Given the description of an element on the screen output the (x, y) to click on. 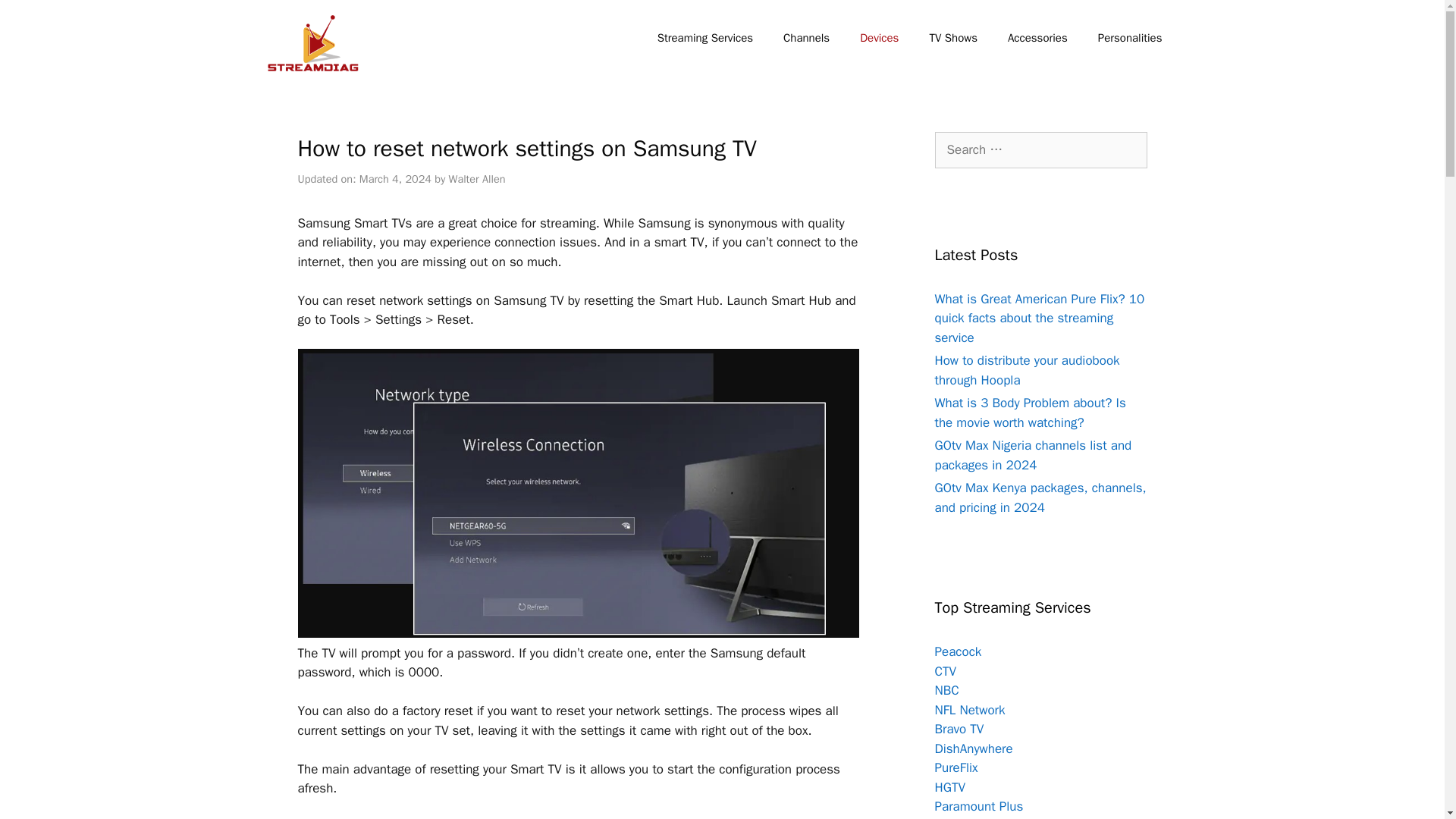
Devices (879, 37)
TV Shows (953, 37)
Channels (806, 37)
Streaming Services (705, 37)
Accessories (1037, 37)
Personalities (1130, 37)
View all posts by Walter Allen (476, 178)
Walter Allen (476, 178)
